Given the description of an element on the screen output the (x, y) to click on. 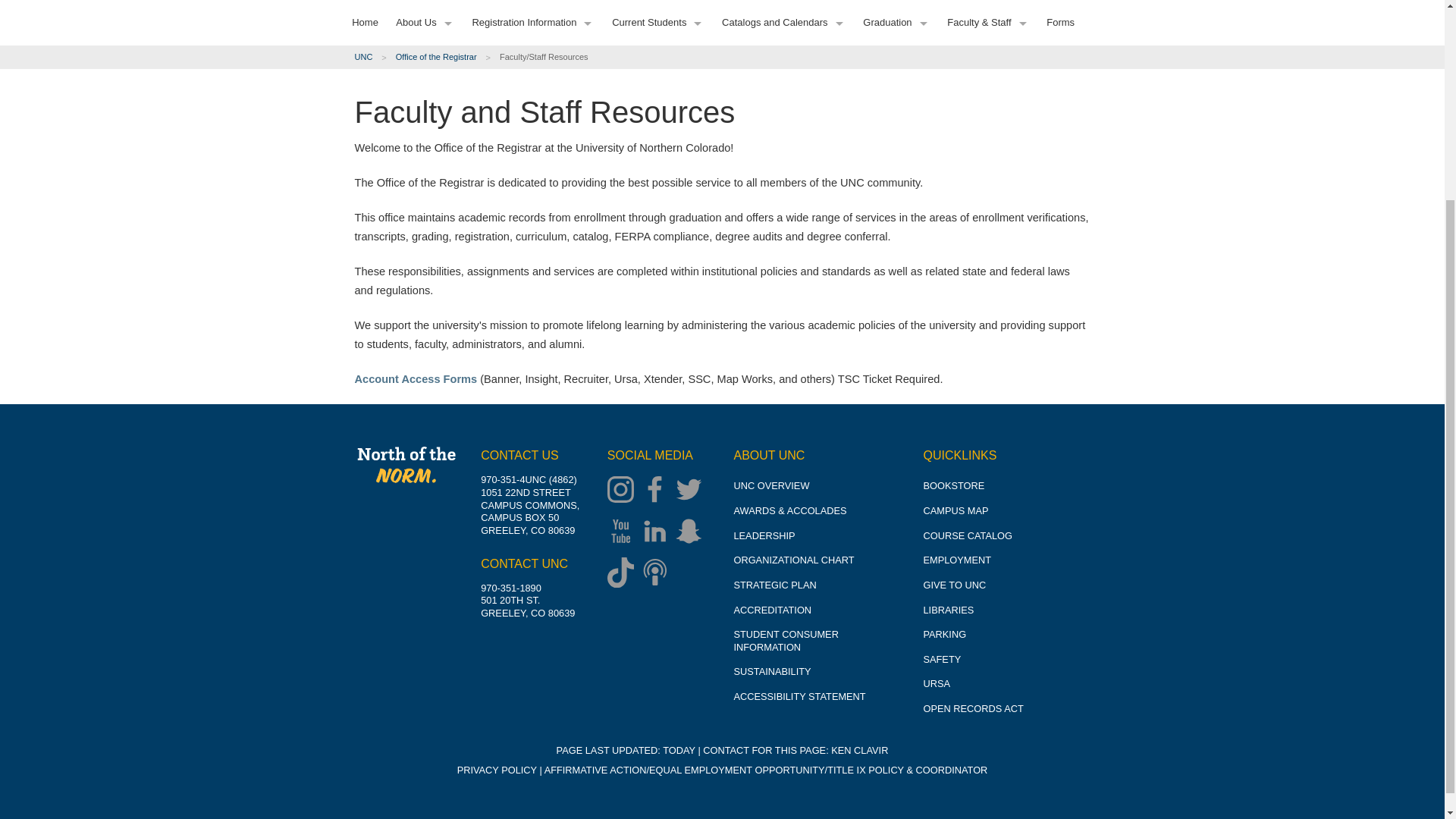
Education Abroad (509, 50)
Snapchat (692, 532)
Instagram (624, 490)
Visit Campus (418, 194)
Library (509, 183)
Apply (418, 274)
Bear in Mind Podcast (658, 574)
Departments and Colleges (509, 24)
YouTube (624, 532)
Twitter (692, 490)
Graduate Programs (509, 5)
Extended Campus (418, 71)
International (418, 45)
Graduate (418, 18)
Account Access Forms (416, 378)
